Given the description of an element on the screen output the (x, y) to click on. 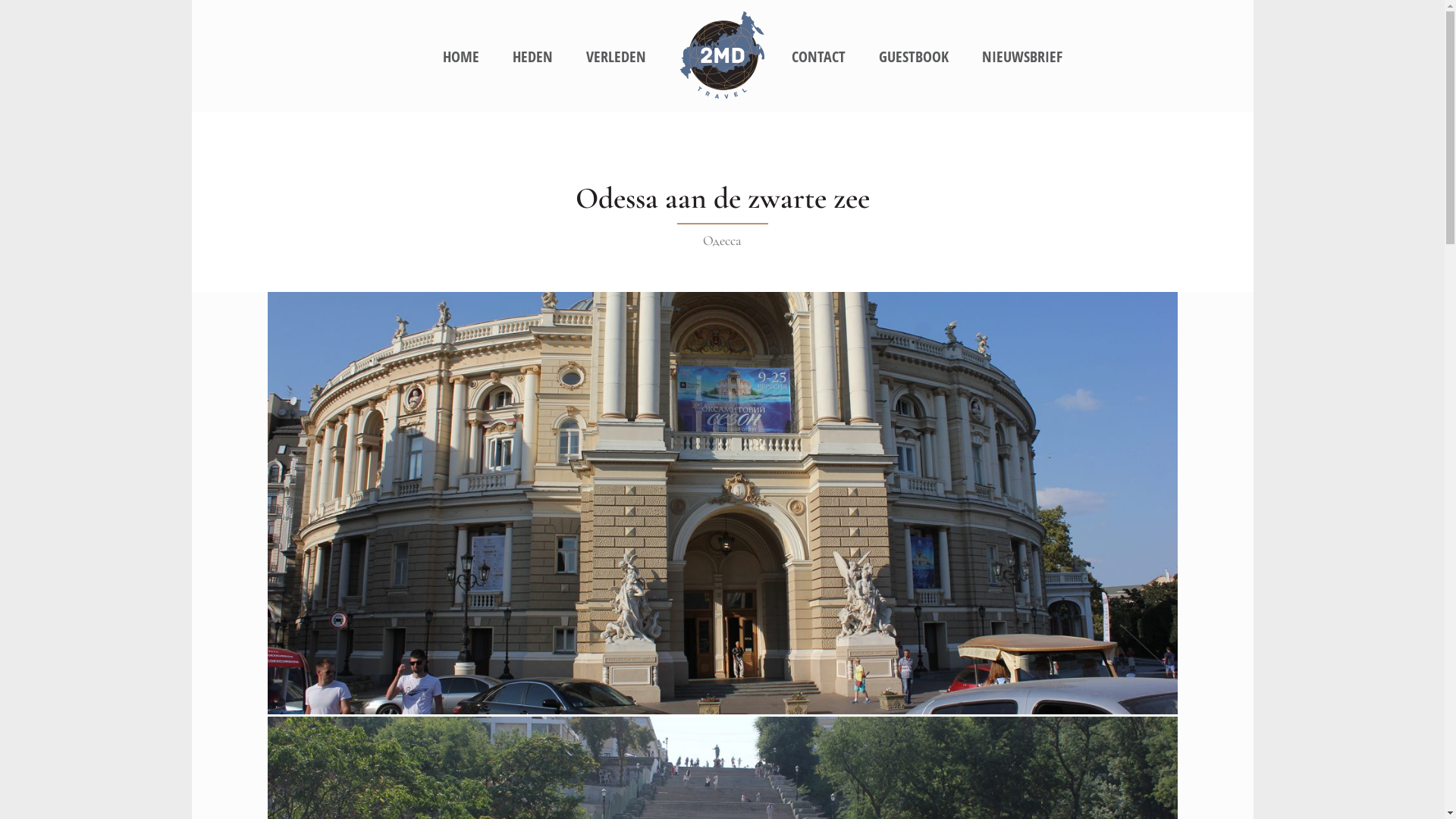
HOME Element type: text (460, 57)
GUESTBOOK Element type: text (913, 57)
CONTACT Element type: text (818, 57)
HEDEN Element type: text (532, 57)
VERLEDEN Element type: text (616, 57)
NIEUWSBRIEF Element type: text (1022, 57)
